Given the description of an element on the screen output the (x, y) to click on. 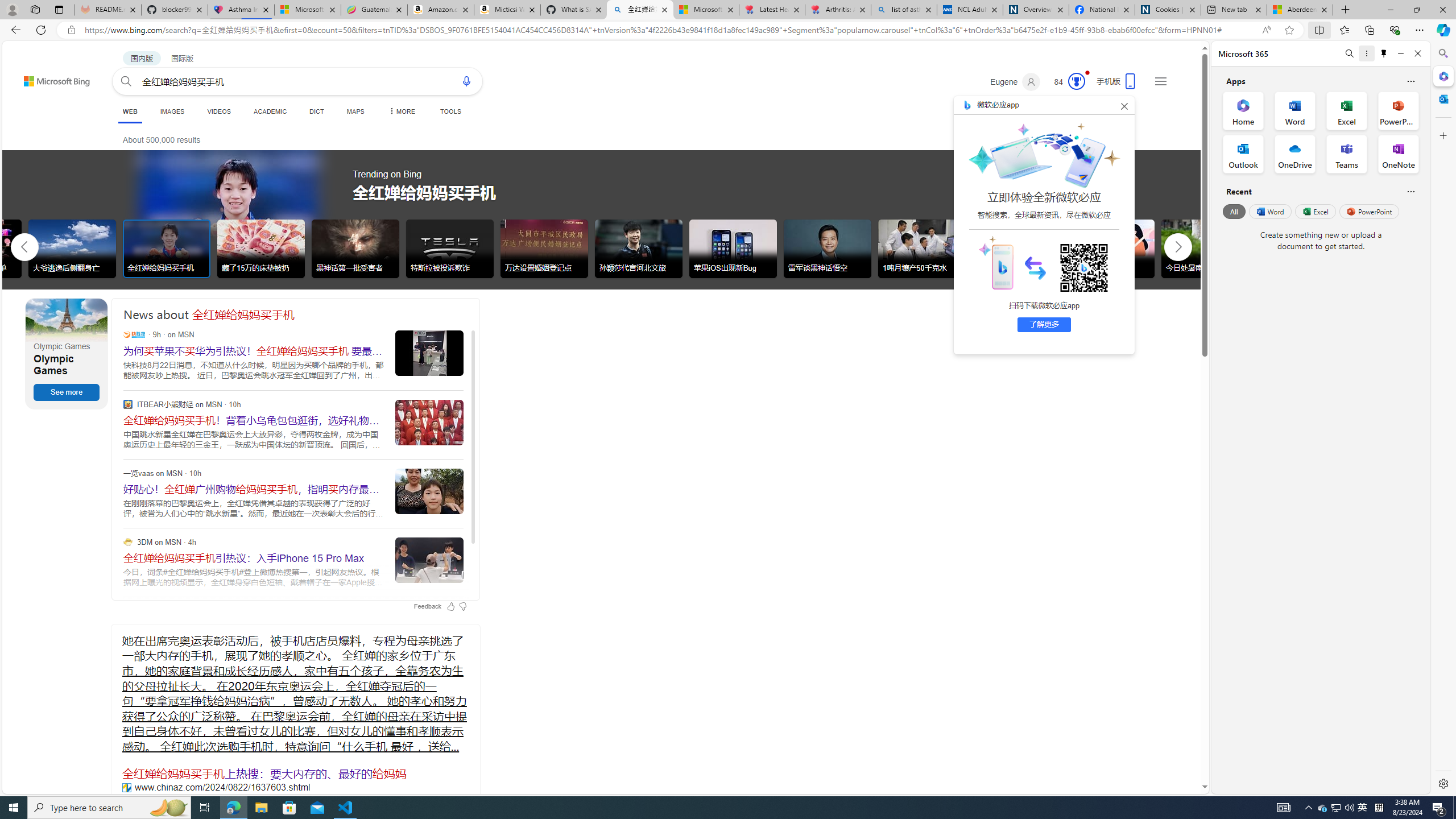
Word (1269, 210)
DICT (316, 111)
